Given the description of an element on the screen output the (x, y) to click on. 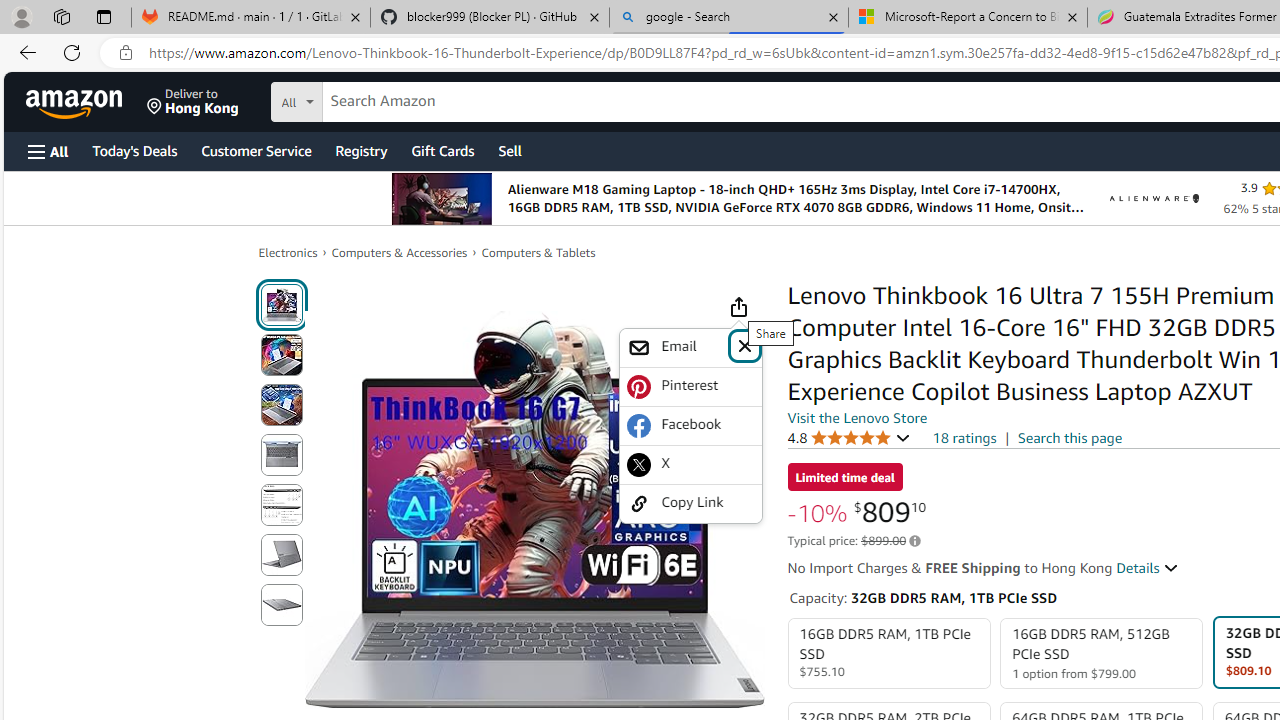
Logo (1153, 198)
Sell (509, 150)
Details  (1148, 568)
Amazon (76, 101)
Skip to main content (86, 100)
Visit the Lenovo Store (857, 417)
Copy Link (690, 503)
X (690, 464)
4.8 4.8 out of 5 stars (849, 437)
Computers & Tablets (538, 252)
Search this page (1069, 437)
